Given the description of an element on the screen output the (x, y) to click on. 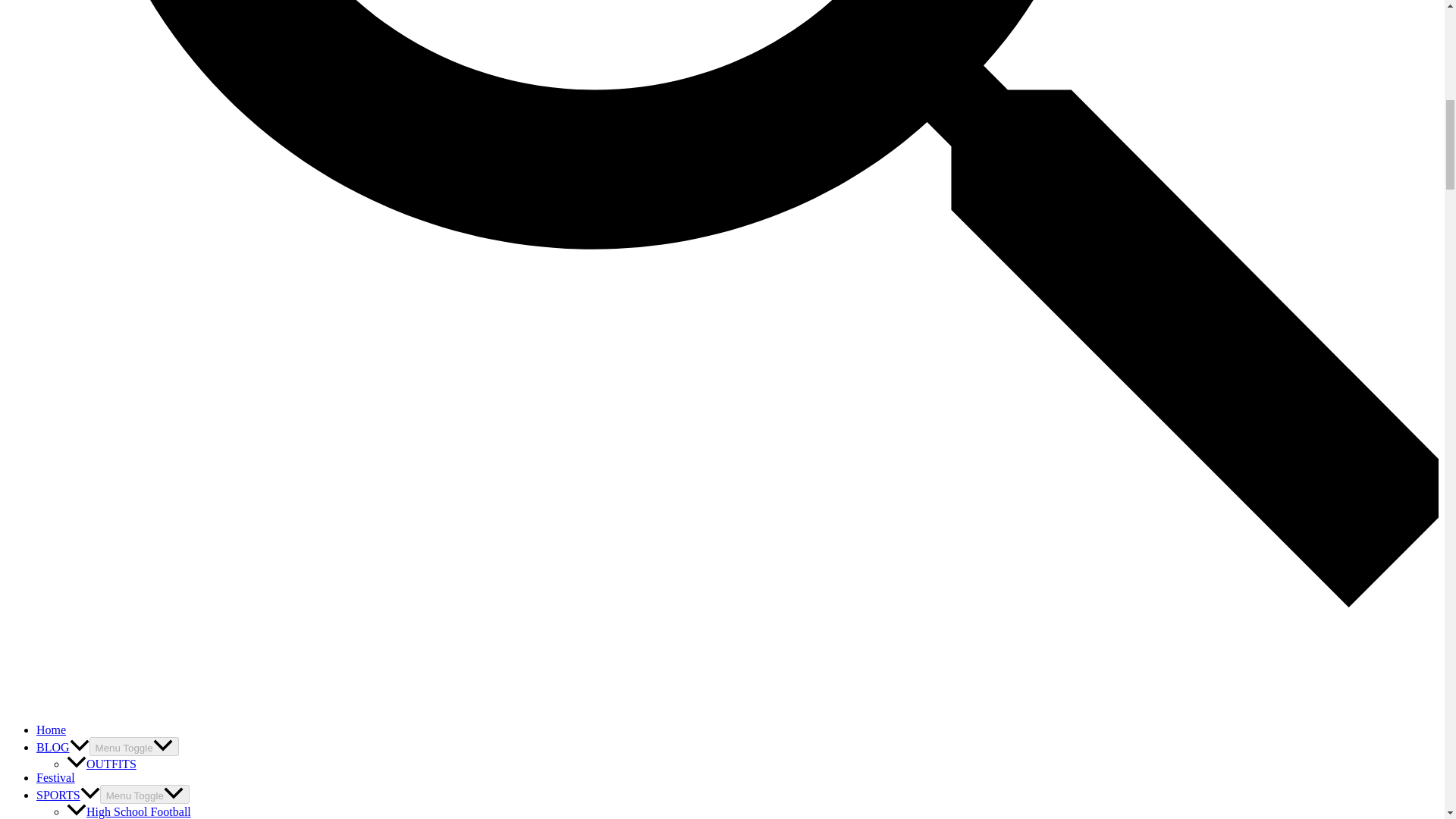
Home (50, 729)
Festival (55, 777)
OUTFITS (101, 763)
Menu Toggle (144, 793)
SPORTS (68, 794)
BLOG (62, 747)
Menu Toggle (133, 746)
High School Football (128, 811)
